Given the description of an element on the screen output the (x, y) to click on. 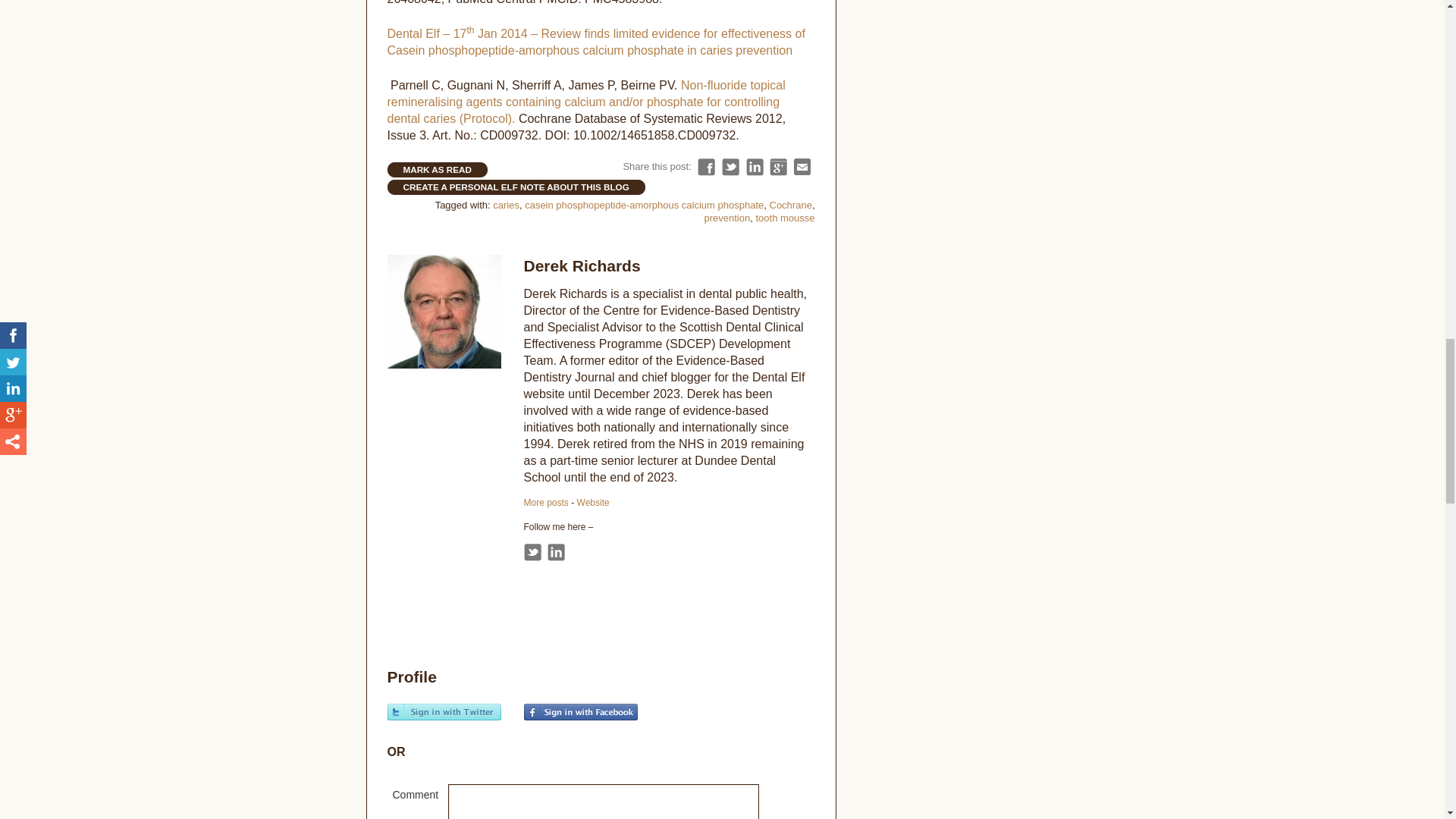
Share on Facebook (705, 167)
Tweet this on Twitter (730, 167)
Twitter (531, 552)
Share on LinkedIn (753, 167)
Share via email (801, 167)
Derek Richards (581, 265)
Derek Richards (544, 502)
LinkedIn (555, 552)
